Given the description of an element on the screen output the (x, y) to click on. 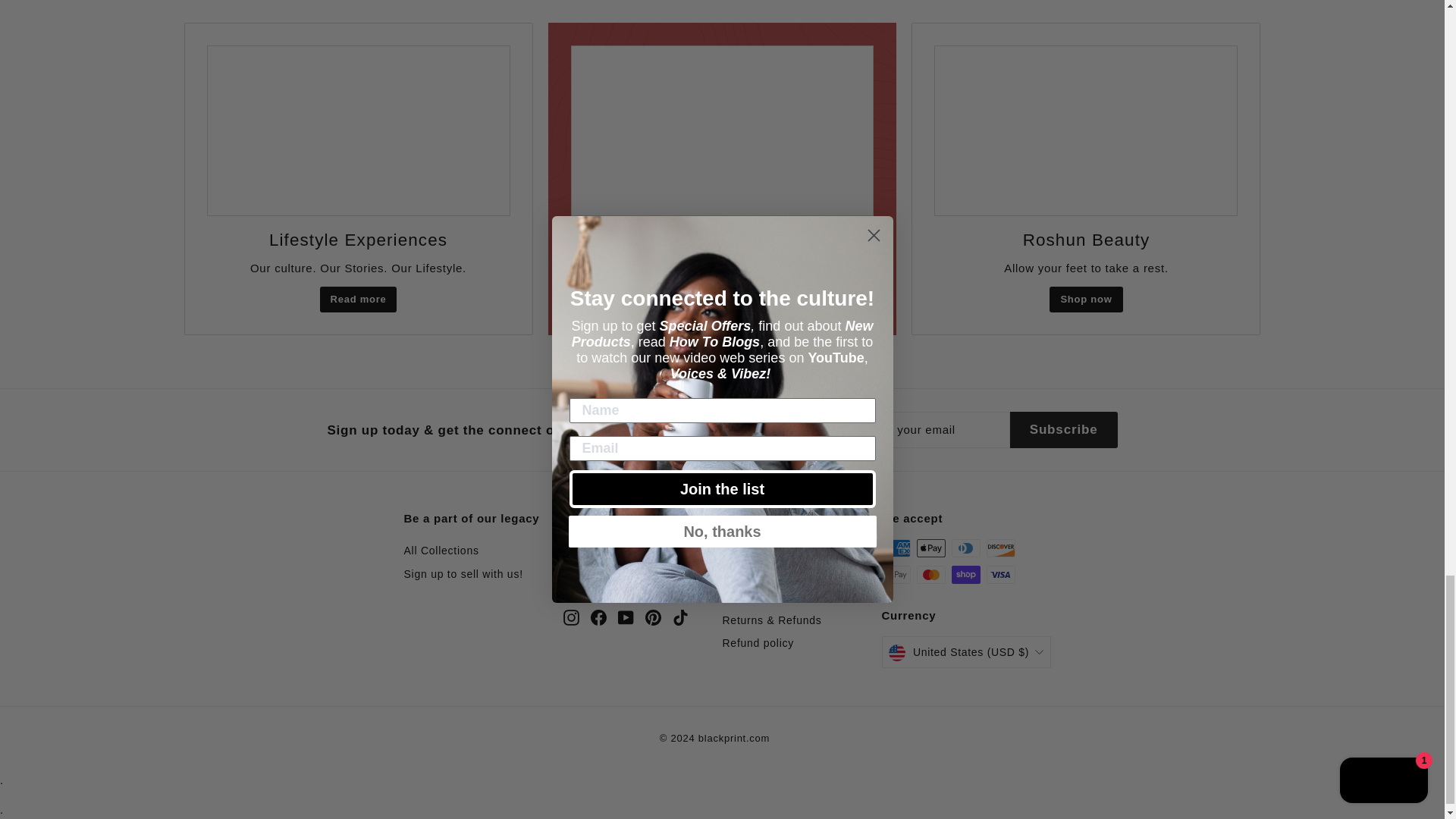
blackprint.com on Instagram (570, 616)
